Given the description of an element on the screen output the (x, y) to click on. 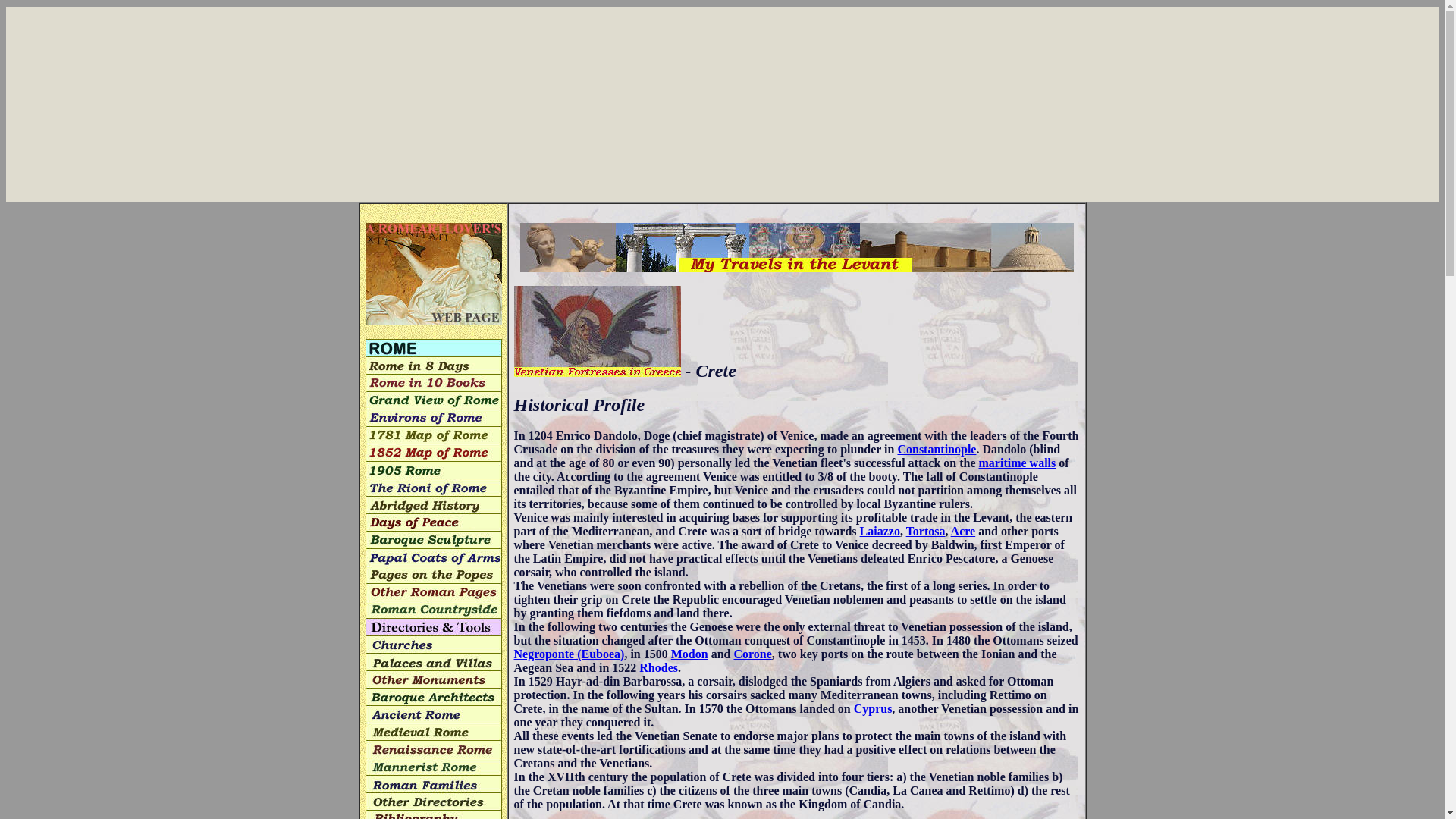
Cyprus (872, 707)
maritime walls (1016, 462)
Constantinople (935, 449)
Tortosa (924, 530)
Acre (962, 530)
Modon (689, 653)
Corone (752, 653)
Laiazzo (879, 530)
Home (433, 273)
Rhodes (658, 667)
